Given the description of an element on the screen output the (x, y) to click on. 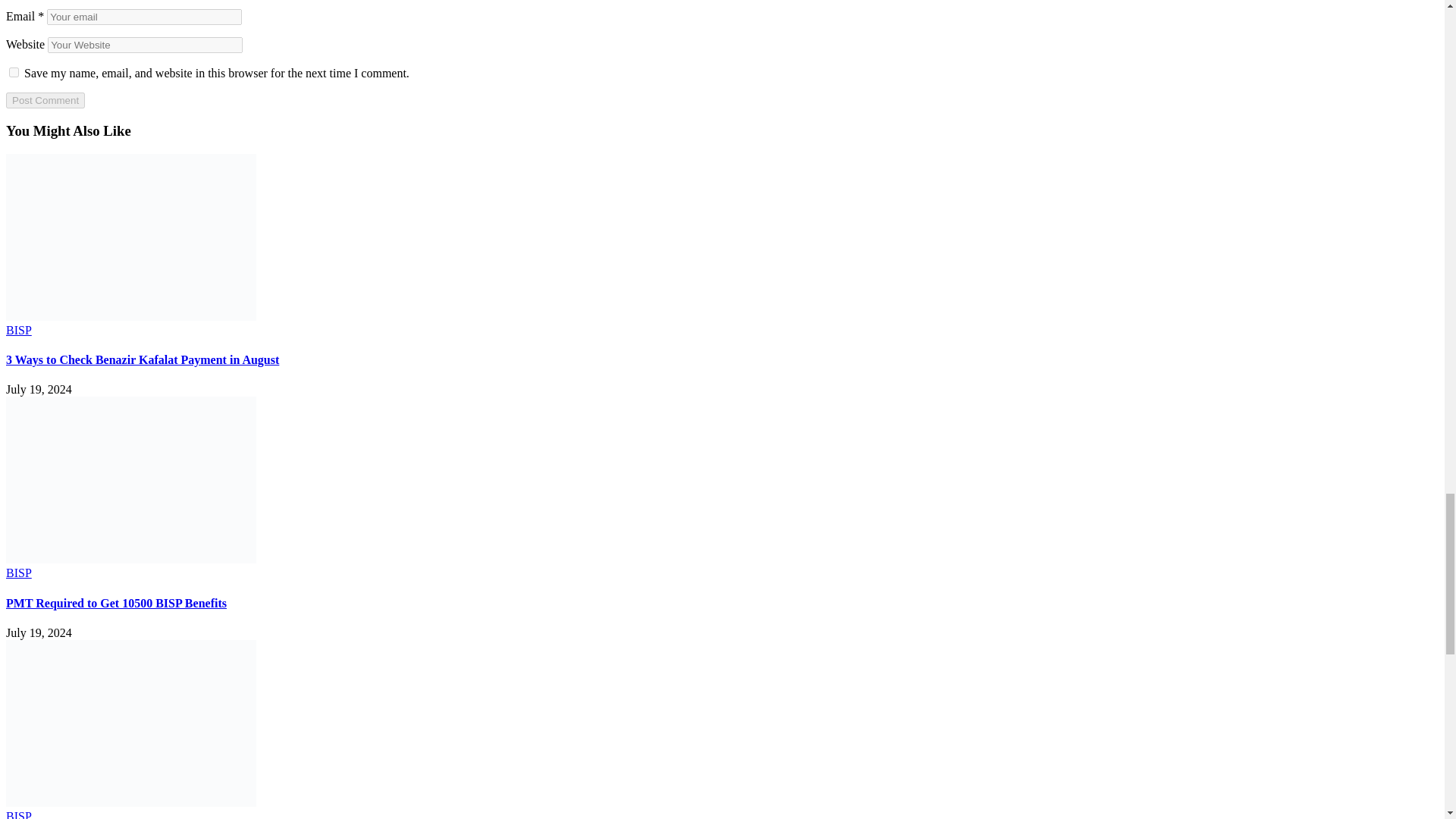
BISP 10500 September Program Registration from 18th July (130, 802)
3 Ways to Check Benazir Kafalat Payment in August (130, 316)
Post Comment (44, 100)
yes (13, 71)
PMT Required to Get 10500 BISP Benefits (130, 558)
